Given the description of an element on the screen output the (x, y) to click on. 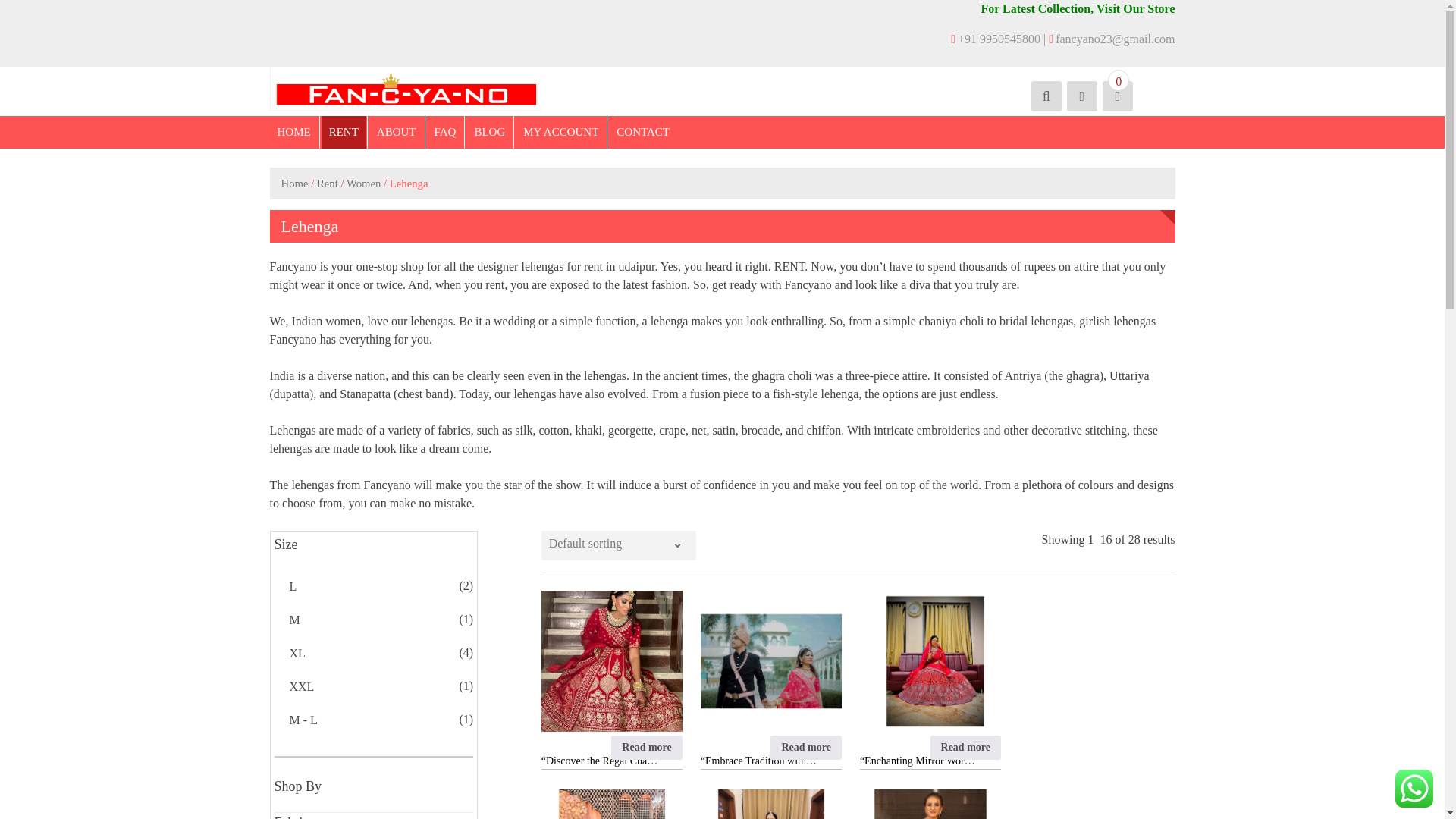
Rent (327, 183)
0 (1116, 96)
View your shopping cart (1116, 96)
MY ACCOUNT (560, 132)
BLOG (488, 132)
Login (978, 271)
ABOUT (396, 132)
RENT (343, 132)
FAQ (445, 132)
Home (294, 183)
HOME (293, 132)
CONTACT (642, 132)
